Given the description of an element on the screen output the (x, y) to click on. 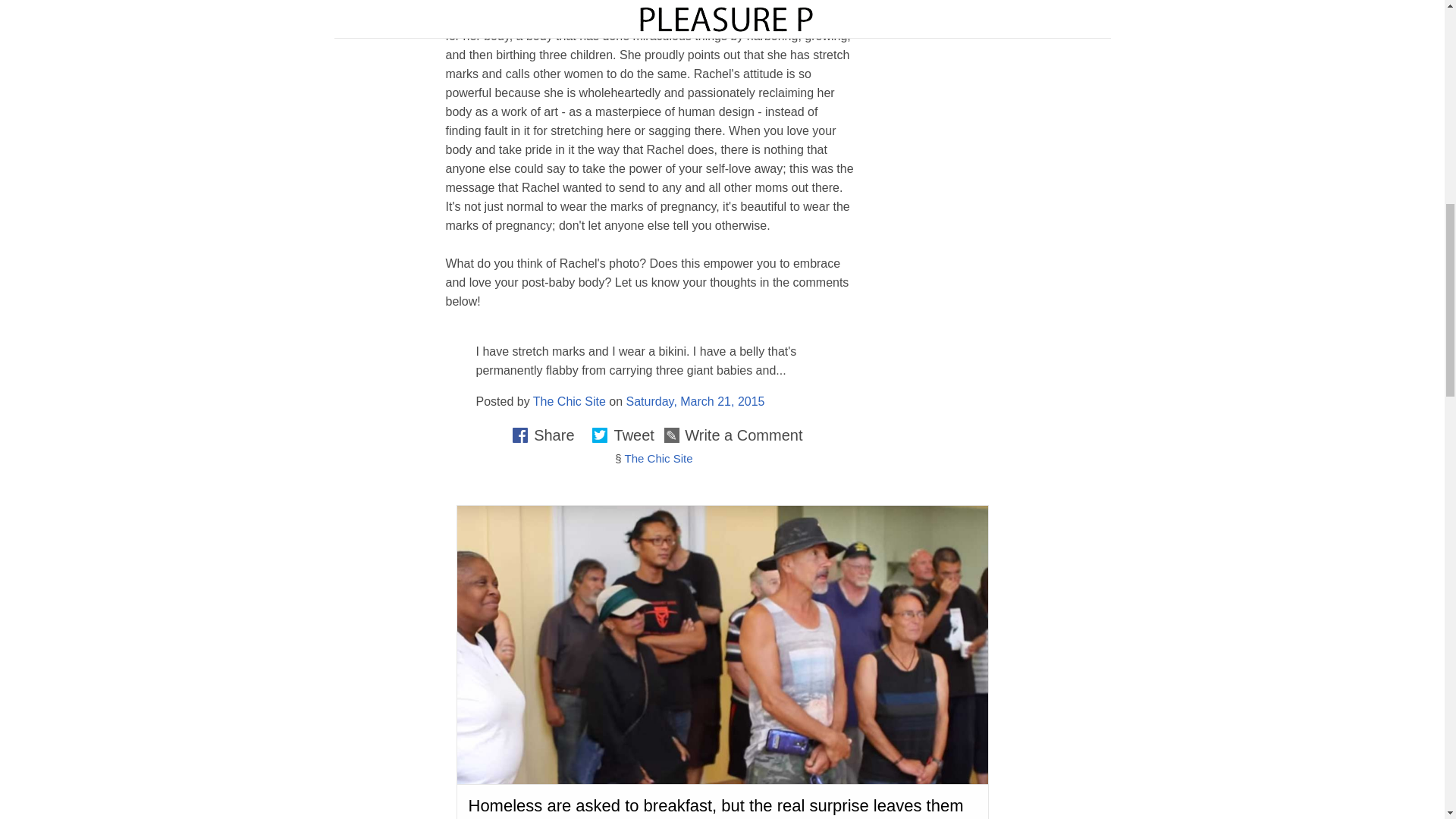
Comment (1325, 359)
The Chic Site (658, 458)
Saturday, March 21, 2015 (695, 400)
The Chic Site (568, 400)
